Given the description of an element on the screen output the (x, y) to click on. 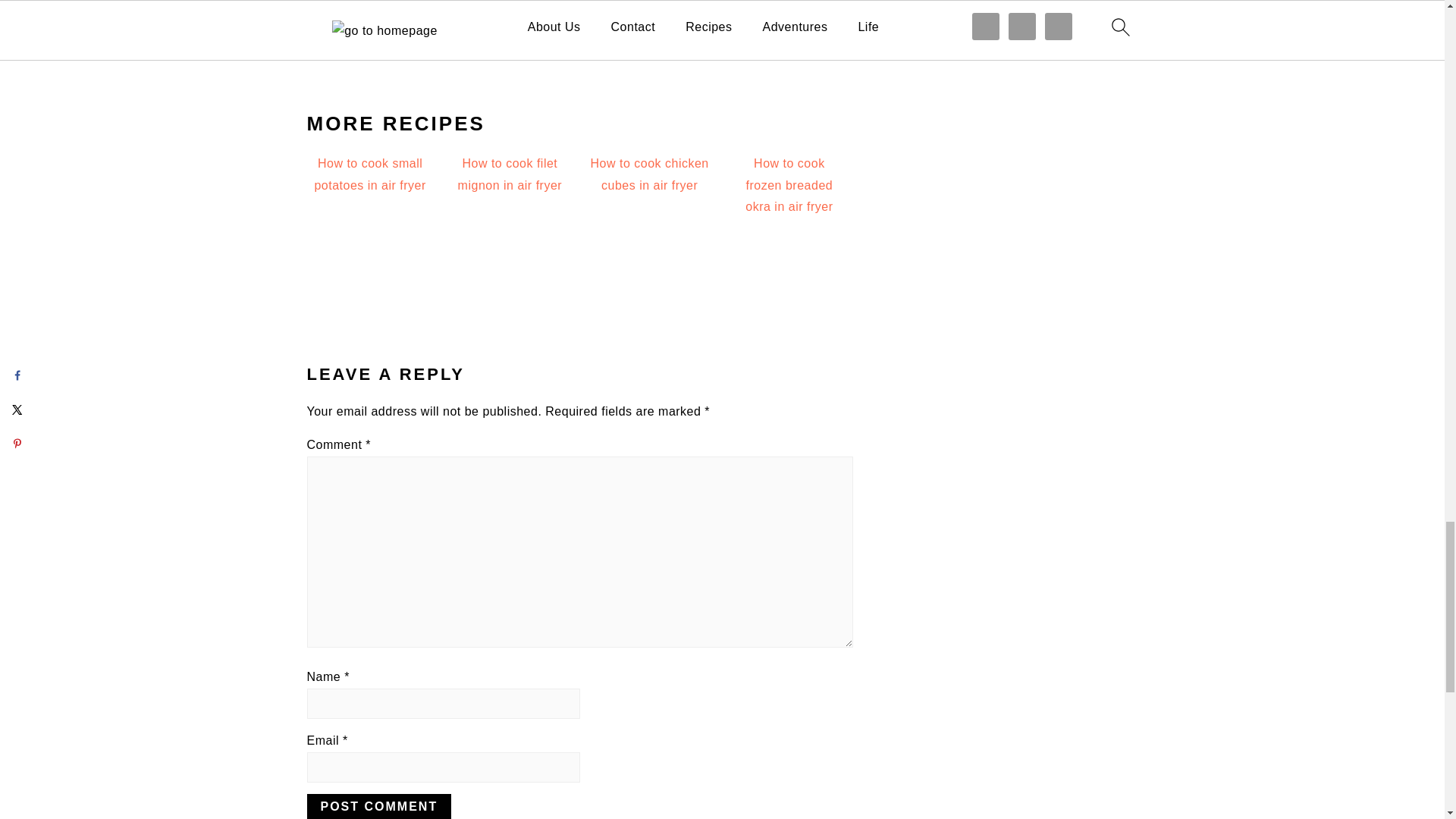
Post Comment (378, 806)
